Given the description of an element on the screen output the (x, y) to click on. 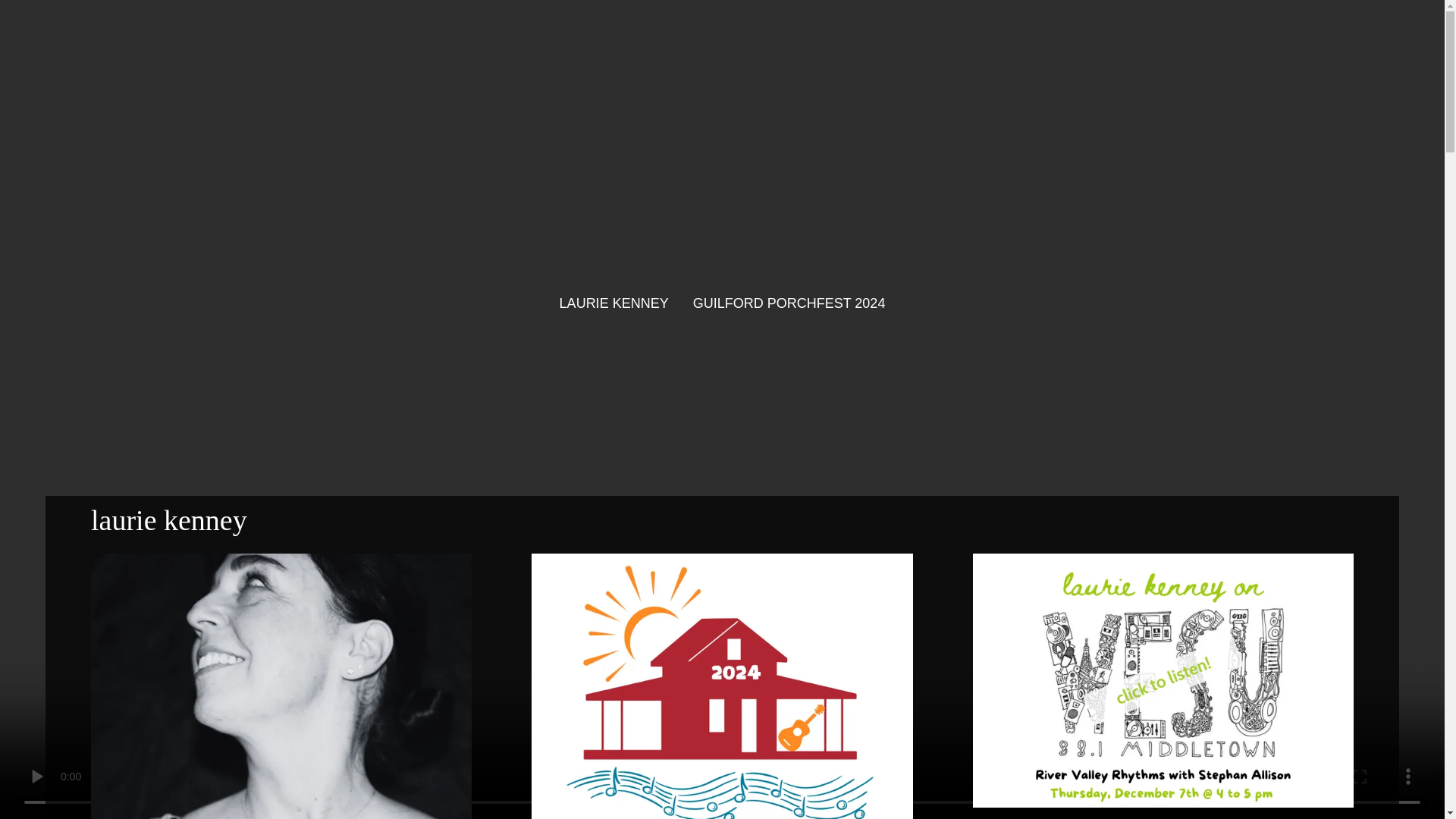
GUILFORD PORCHFEST 2024 (789, 303)
LAURIE KENNEY (613, 303)
